Given the description of an element on the screen output the (x, y) to click on. 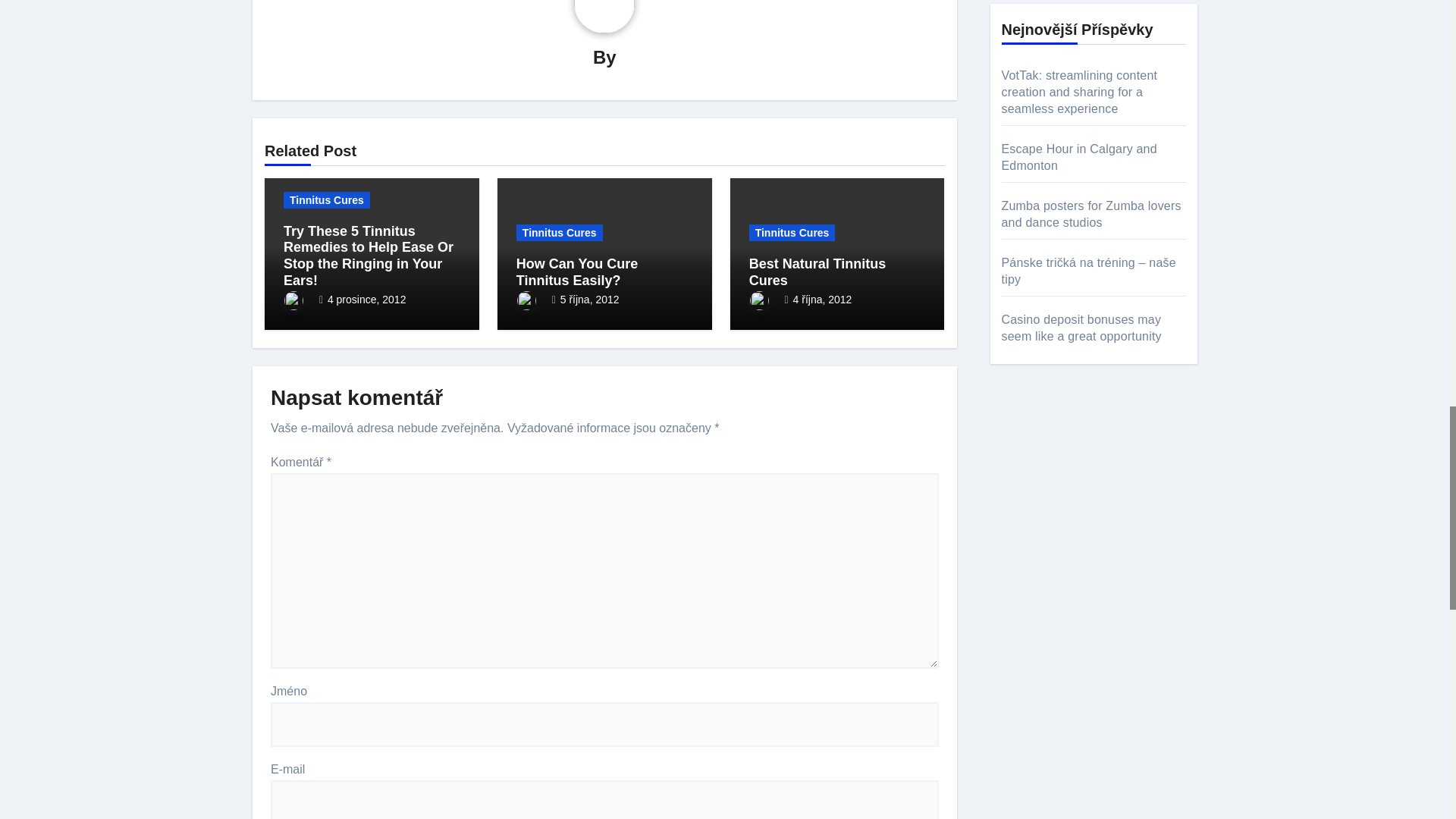
Permalink to: How Can You Cure Tinnitus Easily? (576, 272)
Tinnitus Cures (326, 199)
Permalink to: Best Natural Tinnitus Cures (817, 272)
